Given the description of an element on the screen output the (x, y) to click on. 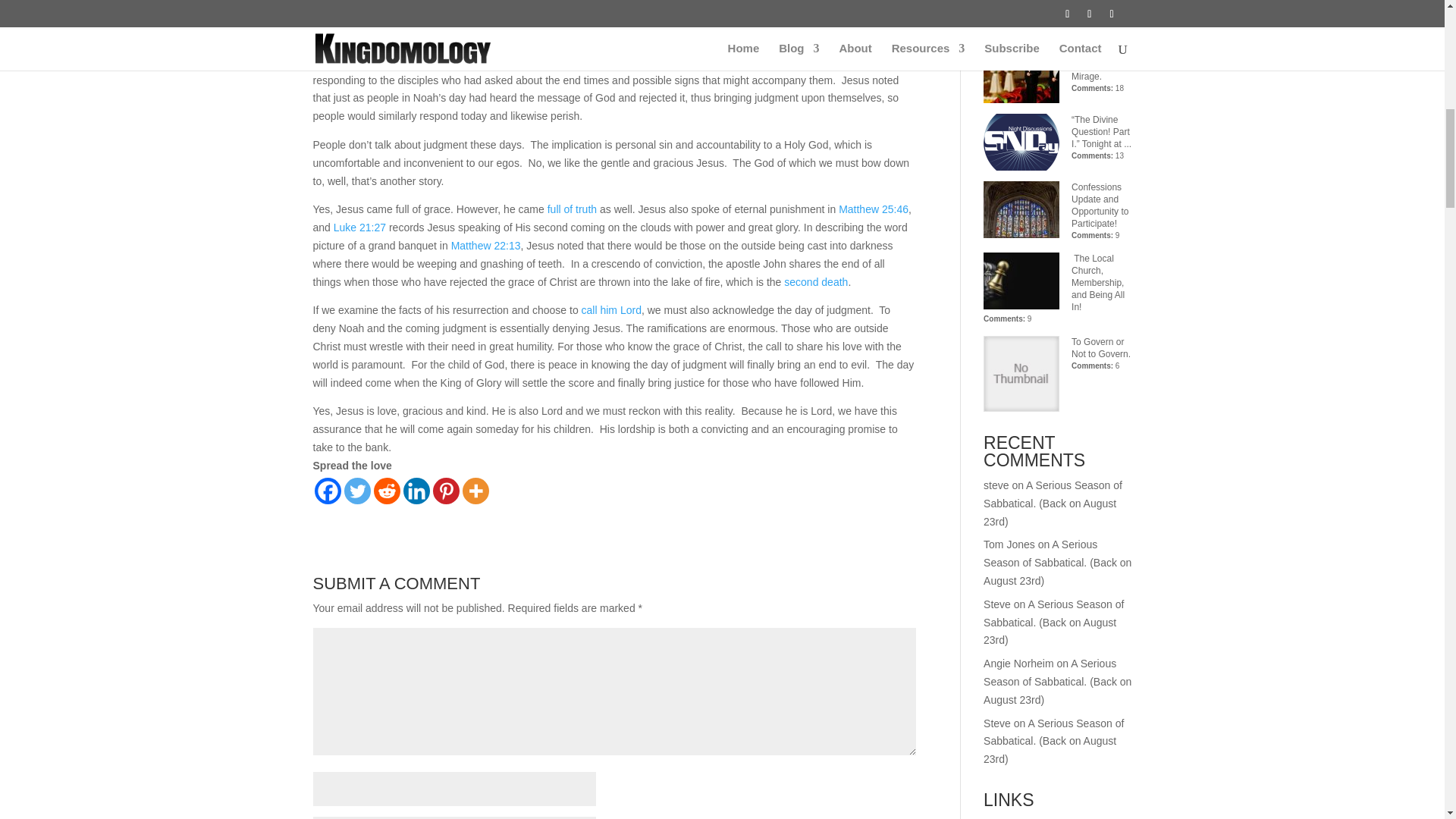
Reddit (385, 490)
Facebook (327, 490)
Twitter (357, 490)
More (476, 490)
Pinterest (445, 490)
Linkedin (416, 490)
